Given the description of an element on the screen output the (x, y) to click on. 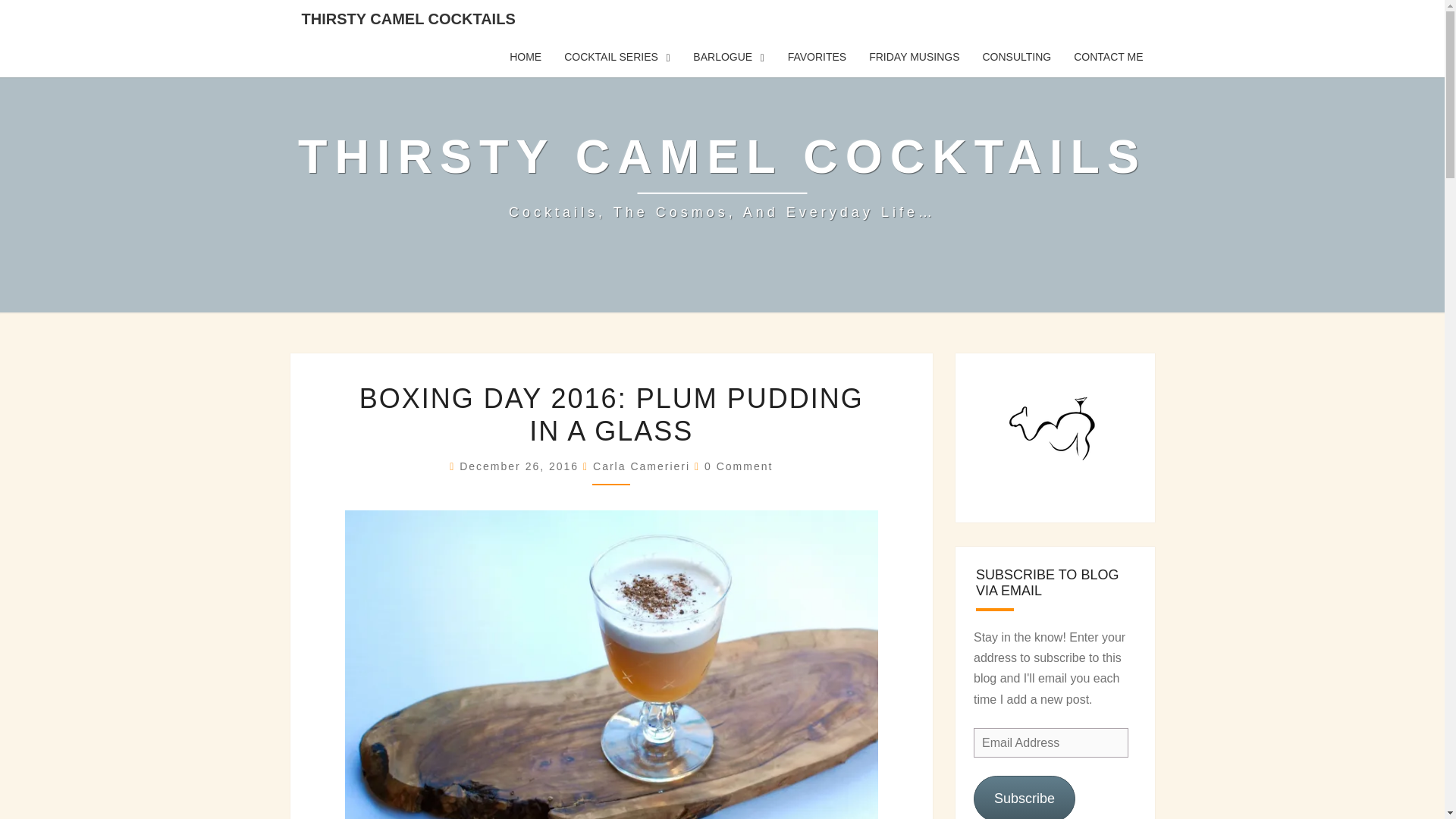
HOME (525, 56)
CONSULTING (1016, 56)
COCKTAIL SERIES (617, 56)
Carla Camerieri (641, 466)
December 26, 2016 (521, 466)
0 Comment (738, 466)
6:00 am (521, 466)
FAVORITES (817, 56)
THIRSTY CAMEL COCKTAILS (407, 18)
Thirsty Camel Cocktails (722, 175)
FRIDAY MUSINGS (914, 56)
BARLOGUE (728, 56)
CONTACT ME (1108, 56)
View all posts by Carla Camerieri (641, 466)
